Given the description of an element on the screen output the (x, y) to click on. 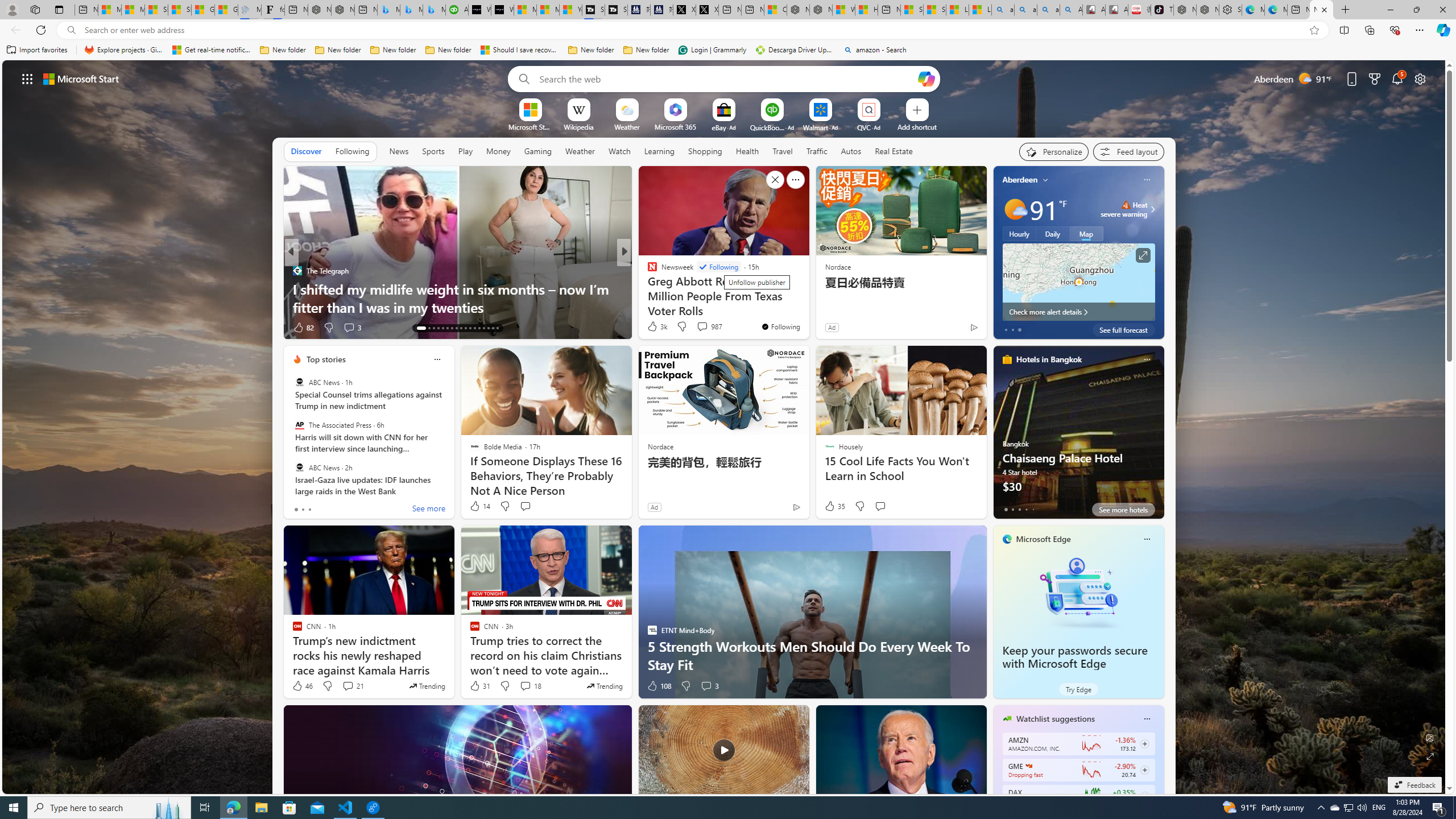
Edit Background (1430, 737)
Nordace.com (663, 288)
YourTango: Revolutionizing Relationships (647, 270)
The Associated Press (299, 424)
Housely (647, 270)
Top stories (325, 359)
AutomationID: tab-13 (420, 328)
Interesting Engineering (647, 270)
379 Like (654, 327)
Page settings (1420, 78)
Health (746, 151)
